Given the description of an element on the screen output the (x, y) to click on. 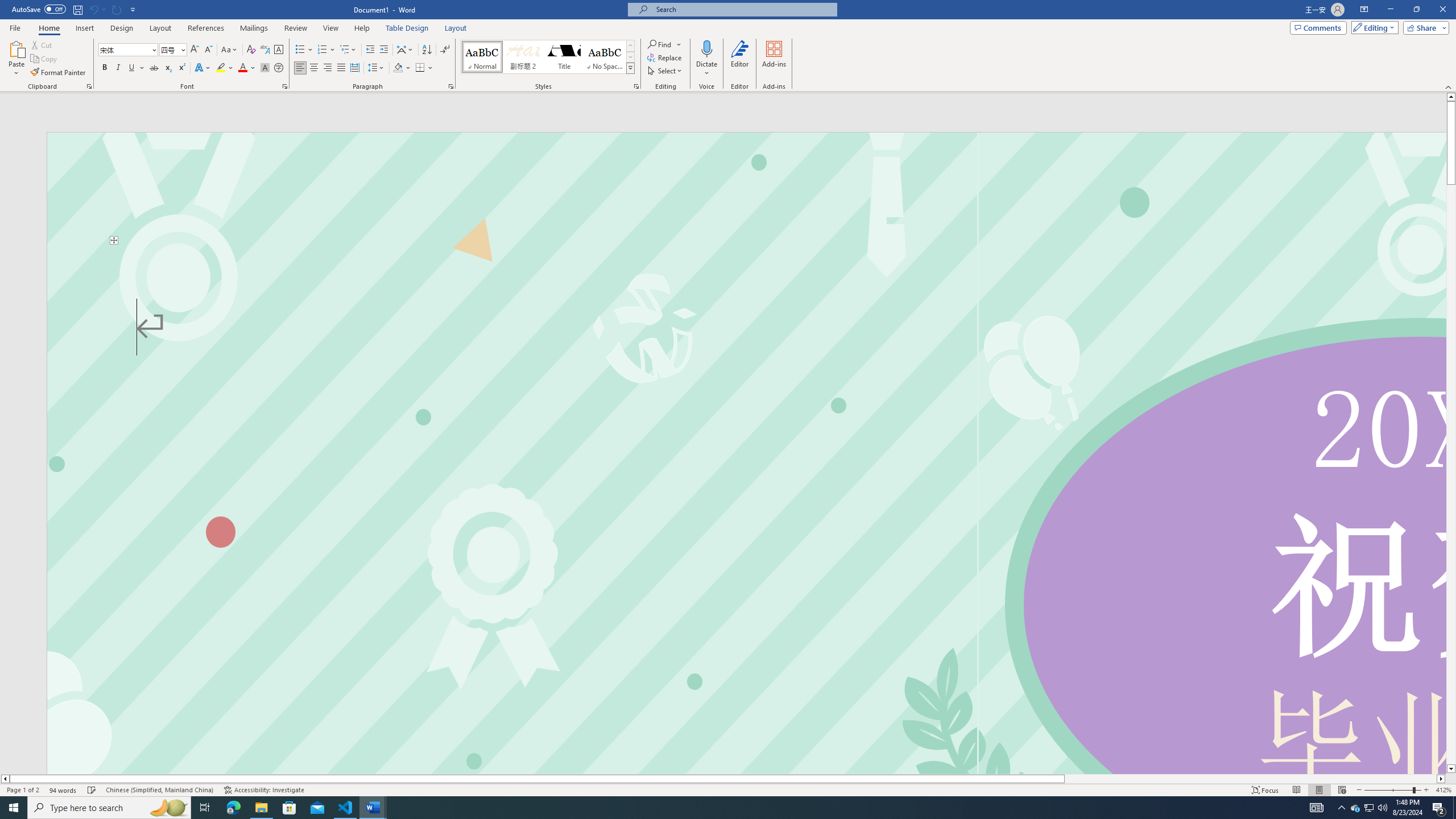
Title (564, 56)
